Given the description of an element on the screen output the (x, y) to click on. 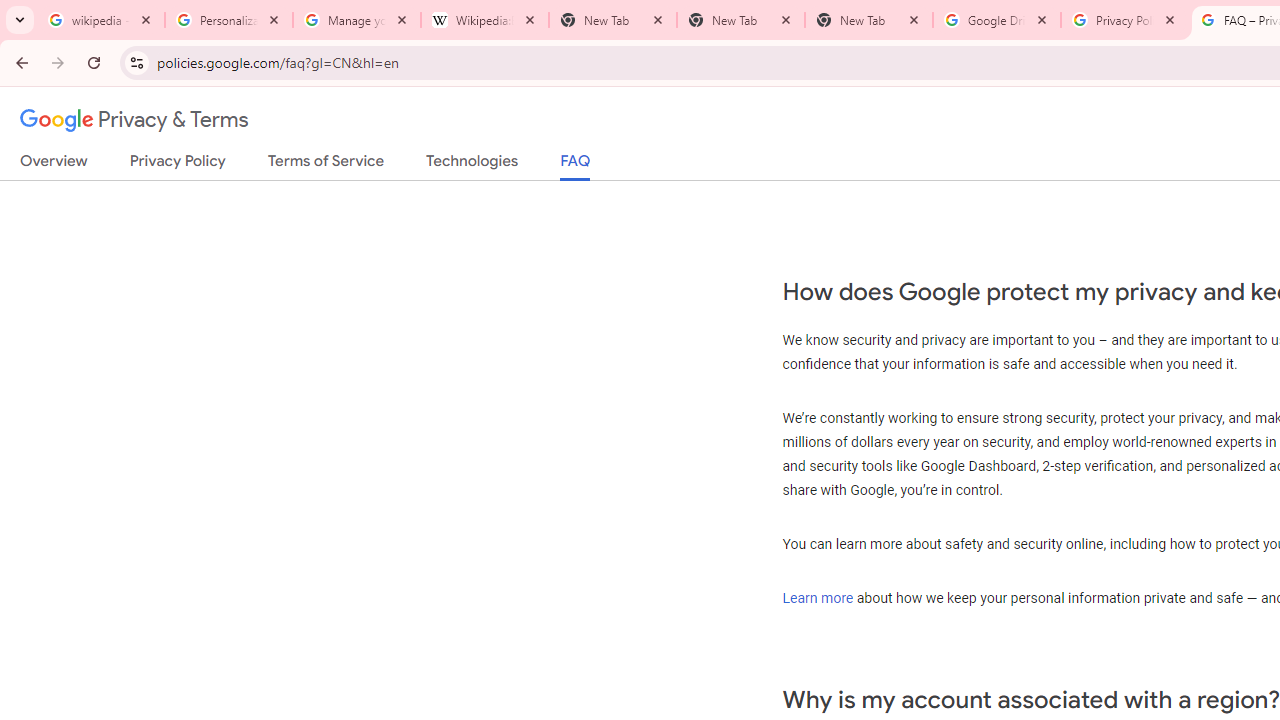
Learn more (817, 597)
